Given the description of an element on the screen output the (x, y) to click on. 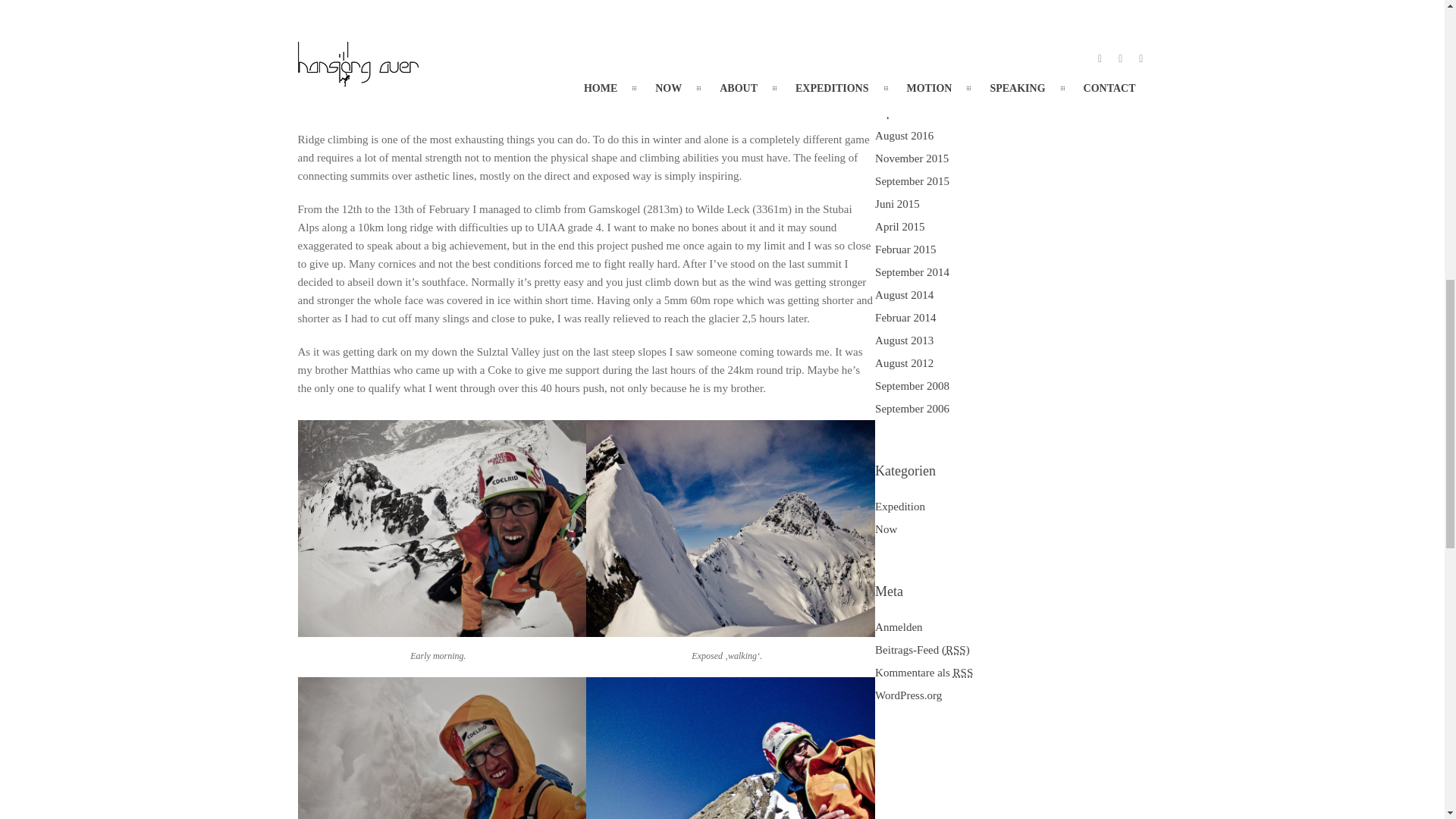
Juli 2017 (896, 21)
Dezember 2016 (911, 90)
Really Simple Syndication (955, 649)
September 2016 (912, 112)
Mai 2017 (896, 44)
Really Simple Syndication (963, 672)
September 2017 (912, 2)
